Given the description of an element on the screen output the (x, y) to click on. 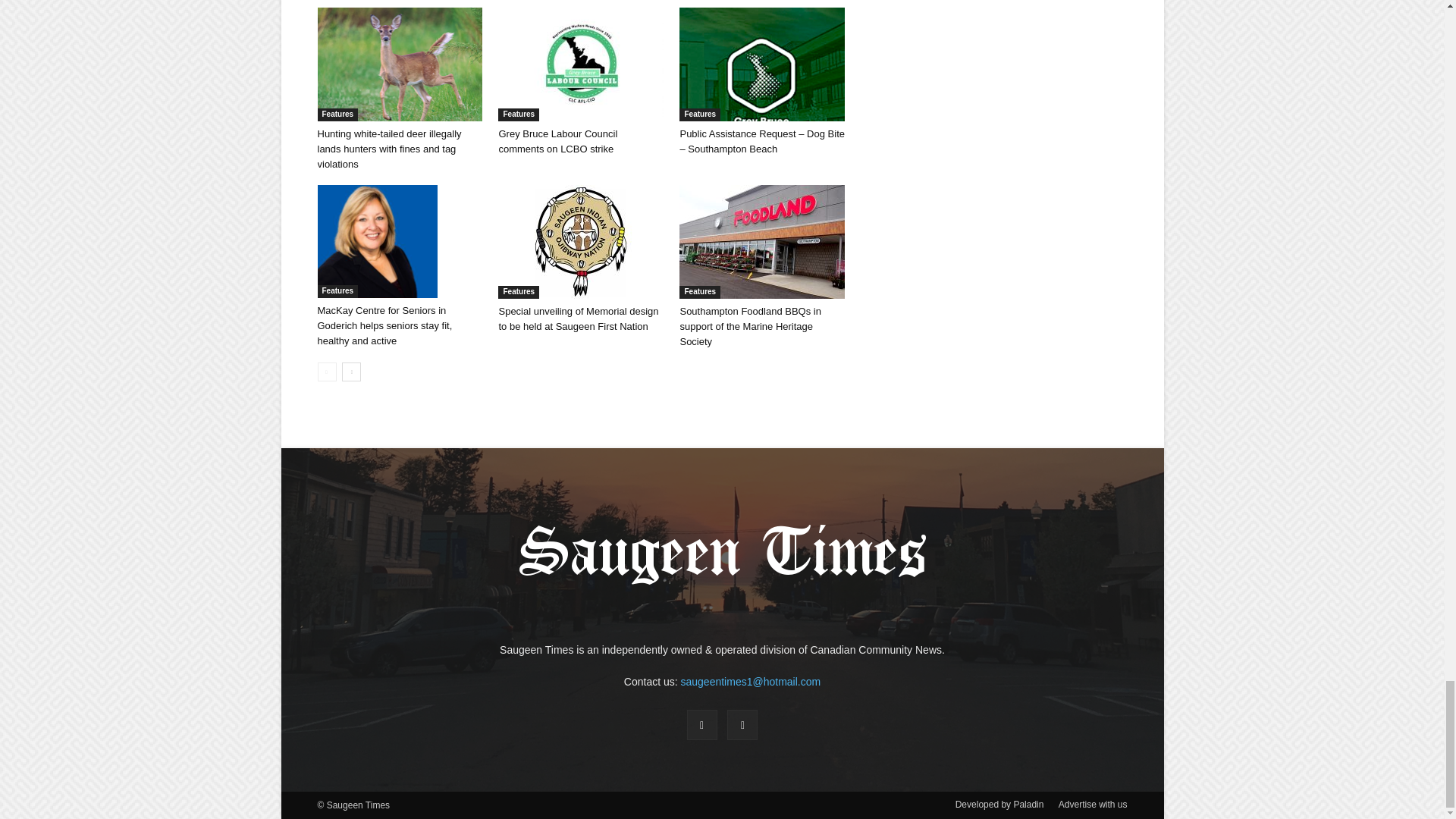
Grey Bruce Labour Council comments on LCBO strike (557, 140)
Grey Bruce Labour Council comments on LCBO strike (580, 64)
